Given the description of an element on the screen output the (x, y) to click on. 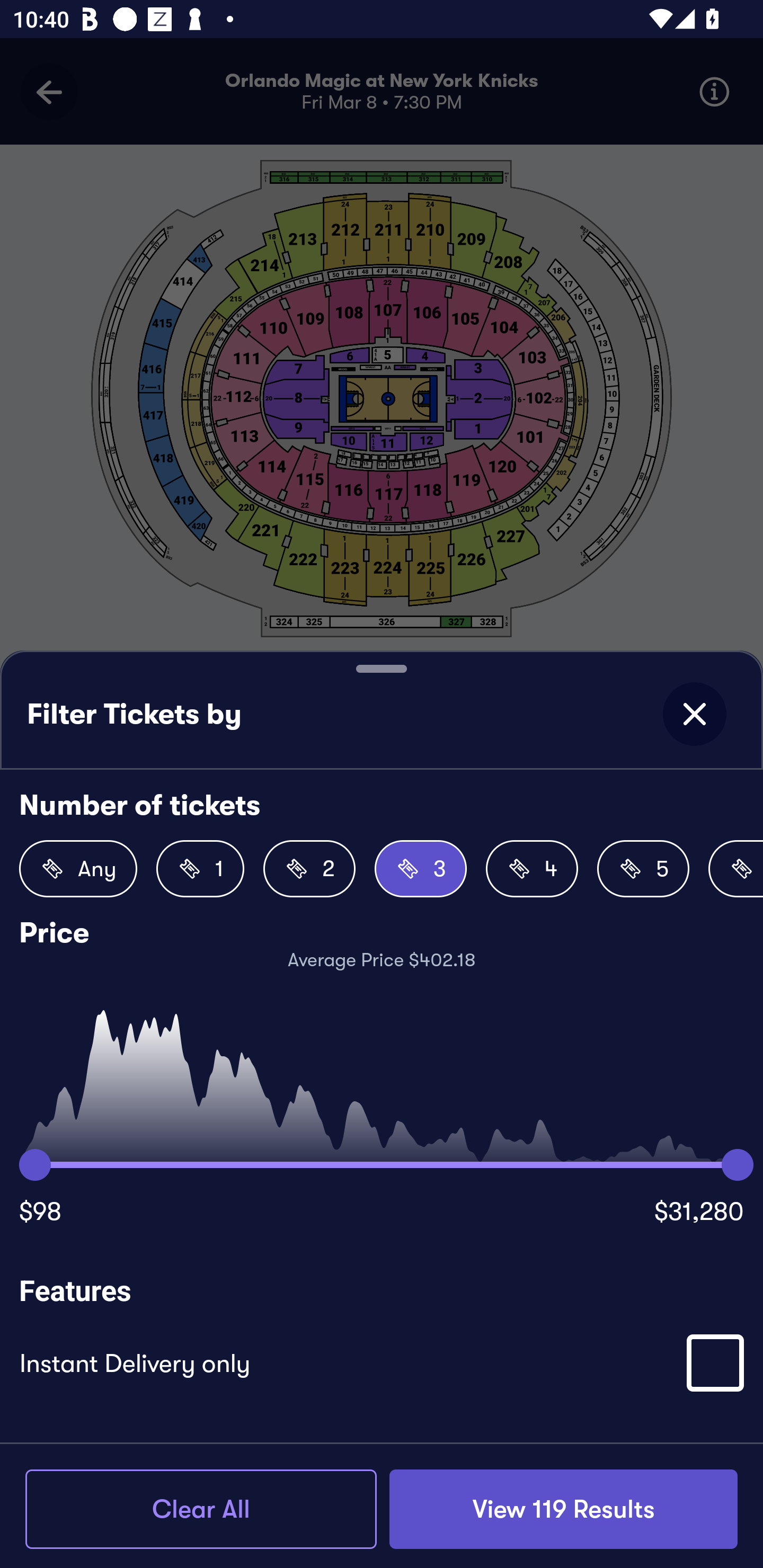
close (694, 714)
Any (78, 868)
1 (200, 868)
2 (309, 868)
3 (420, 868)
4 (532, 868)
5 (642, 868)
Clear All (200, 1509)
View 119 Results (563, 1509)
